Given the description of an element on the screen output the (x, y) to click on. 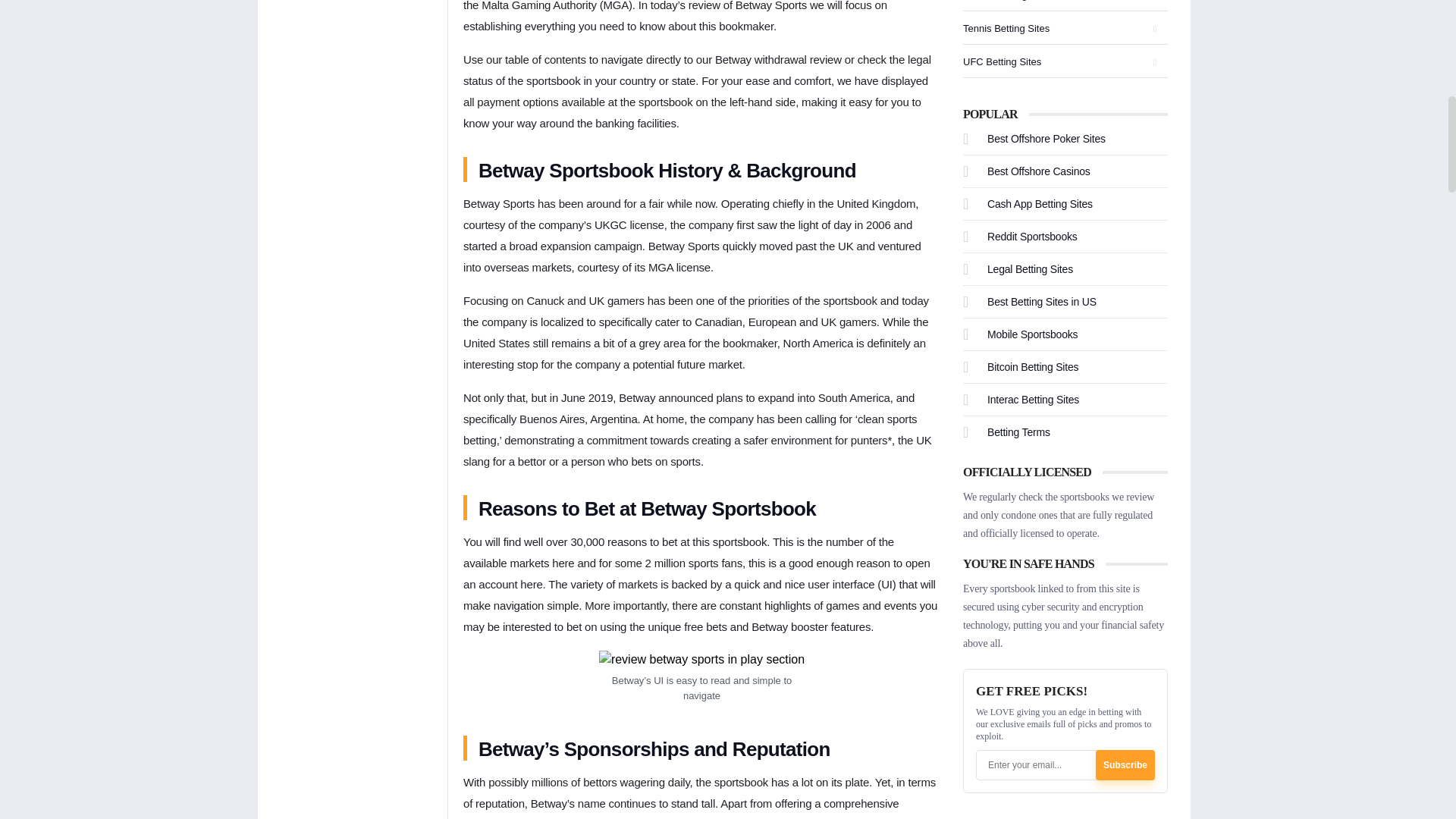
Subscribe (1125, 764)
